Given the description of an element on the screen output the (x, y) to click on. 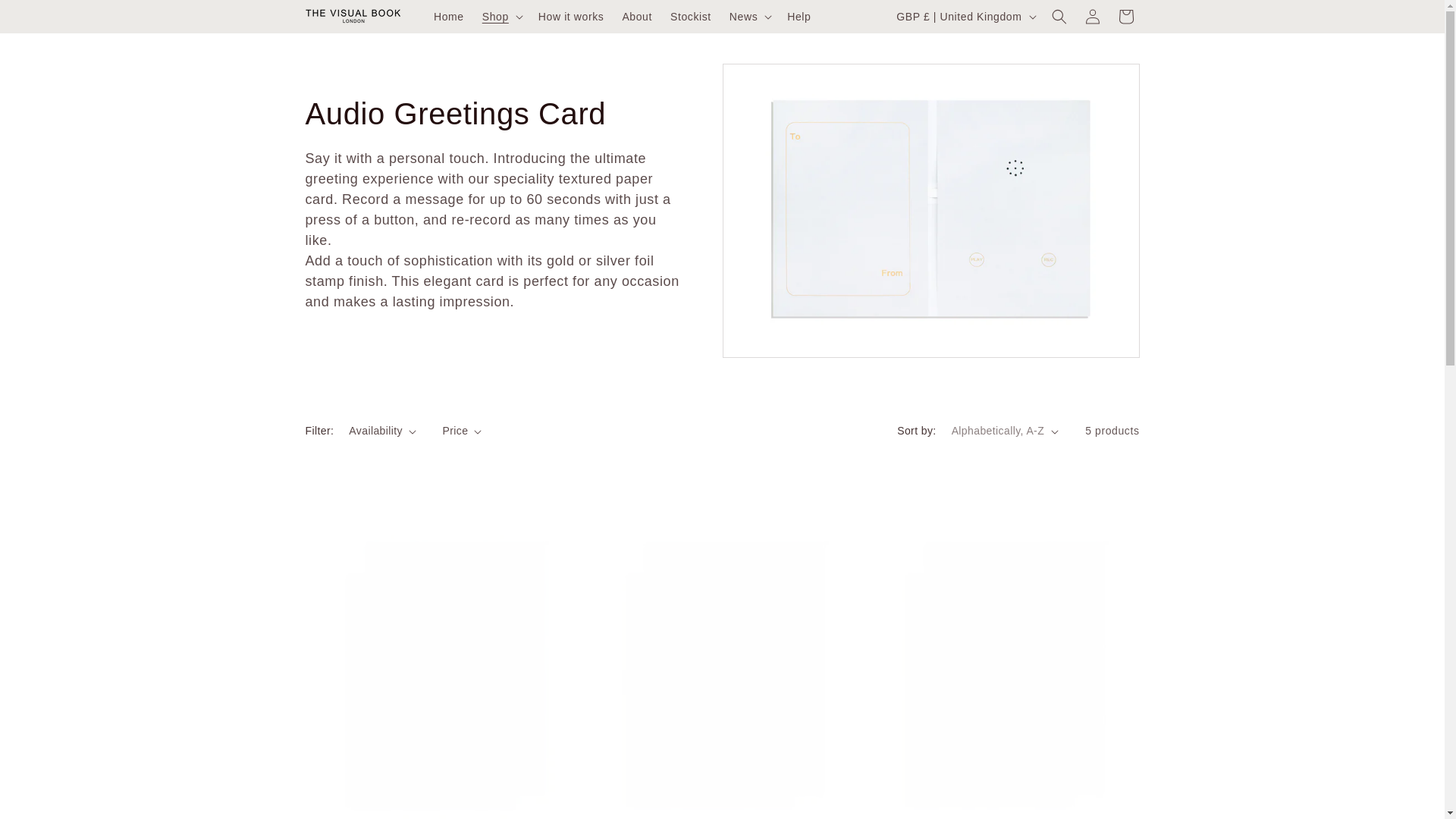
Stockist (690, 16)
About (636, 16)
Cart (1124, 16)
Skip to content (45, 17)
How it works (570, 16)
Log in (1091, 16)
Help (798, 16)
Home (449, 16)
